Given the description of an element on the screen output the (x, y) to click on. 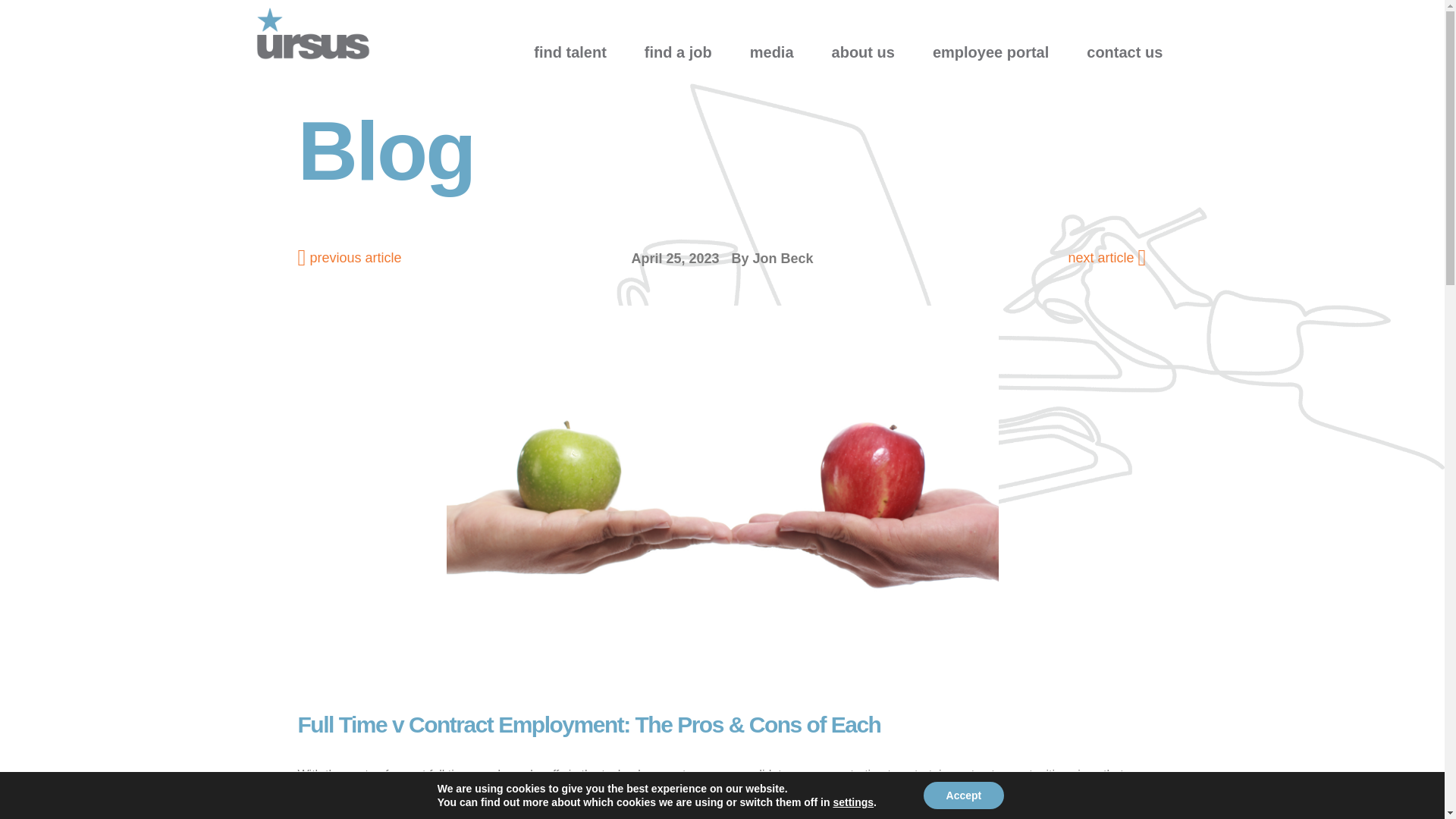
find a job (681, 47)
about us (866, 47)
employee portal (994, 47)
contact us (1128, 47)
media (775, 47)
find talent (573, 47)
